Given the description of an element on the screen output the (x, y) to click on. 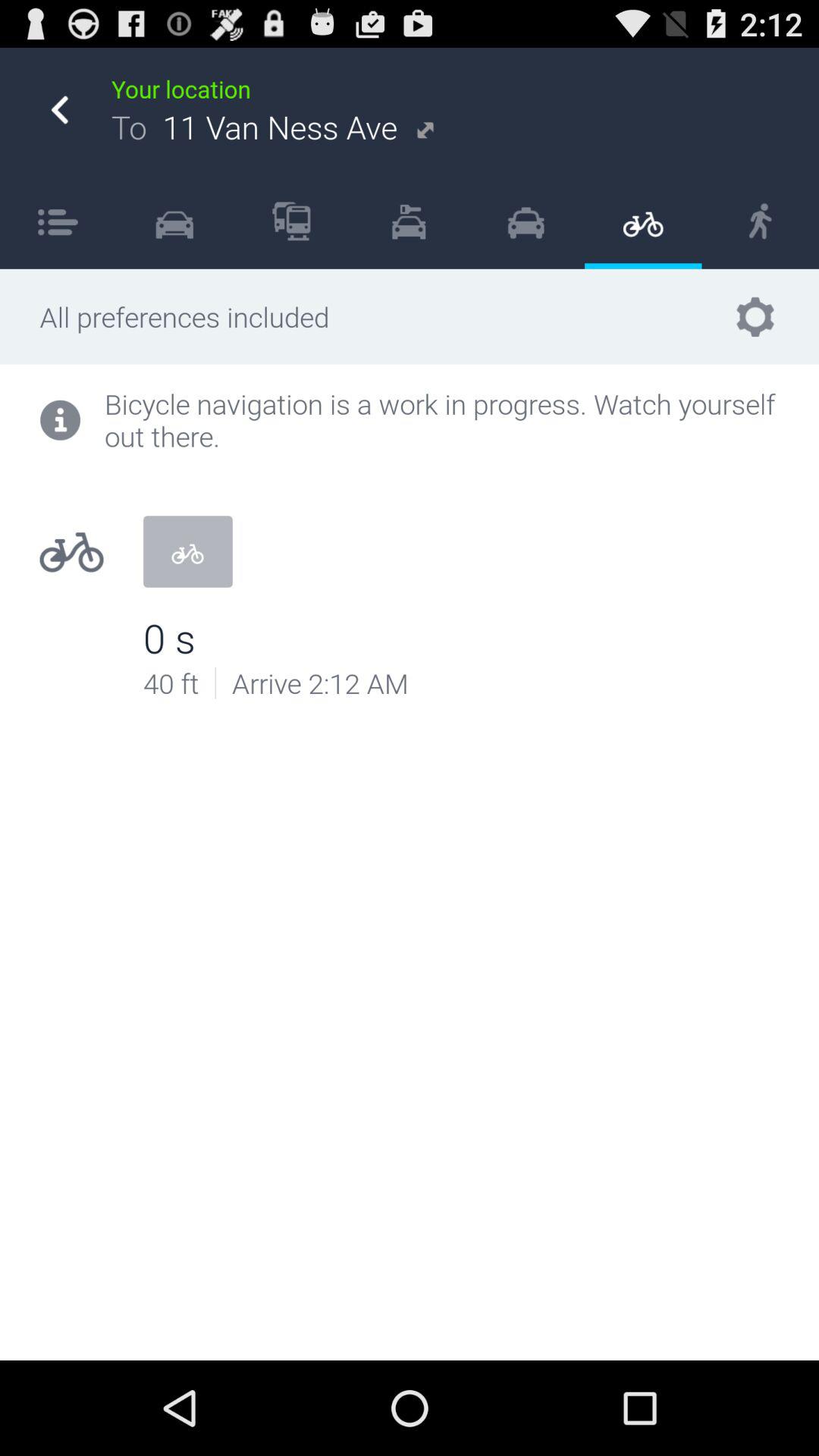
launch item next to the   icon (408, 221)
